Given the description of an element on the screen output the (x, y) to click on. 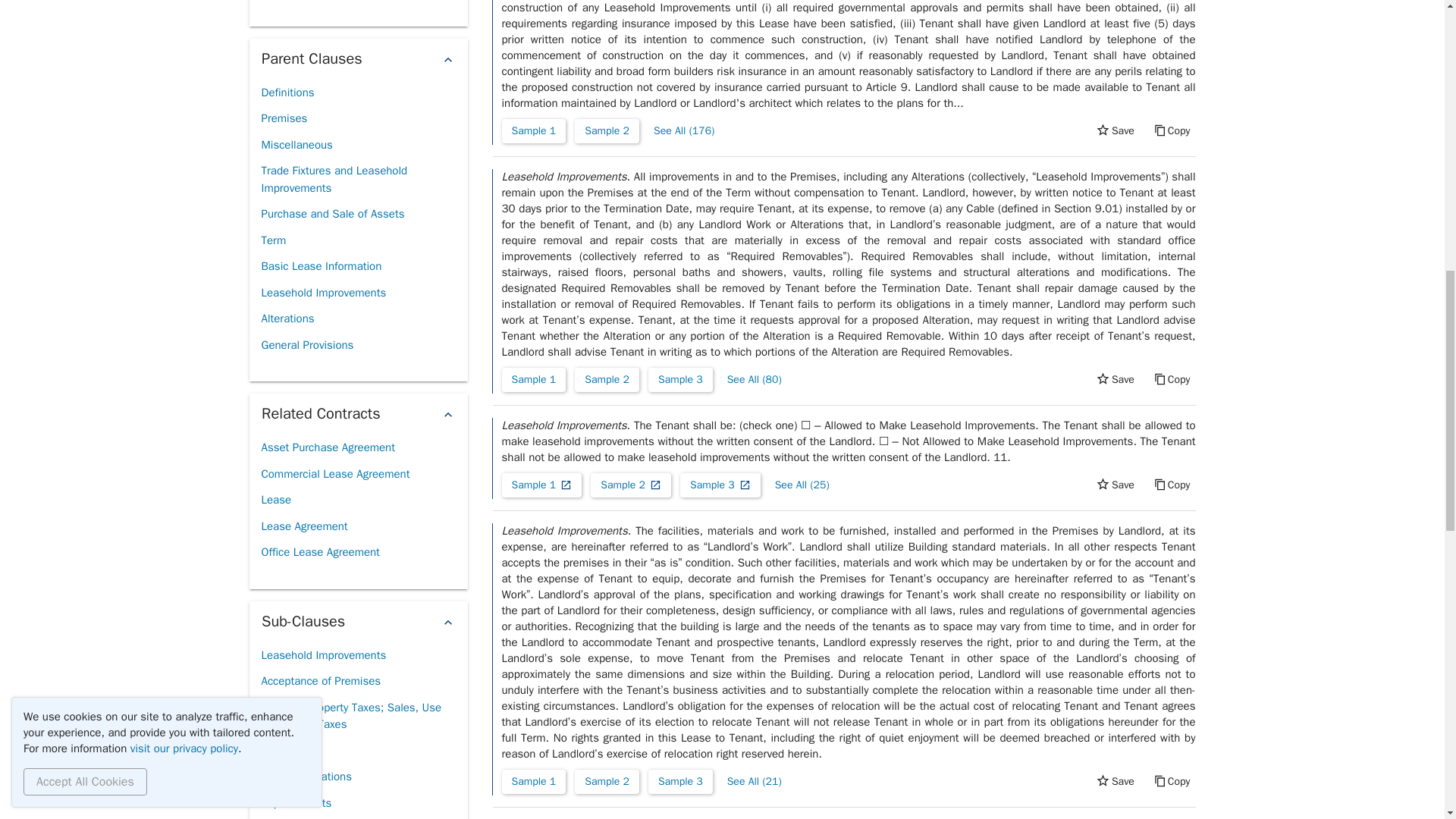
Premises (283, 118)
Trade Fixtures and Leasehold Improvements (357, 179)
Basic Lease Information (320, 266)
Initial Improvements (310, 1)
Term (272, 240)
Definitions (287, 92)
Purchase and Sale of Assets (332, 213)
Miscellaneous (295, 144)
